Given the description of an element on the screen output the (x, y) to click on. 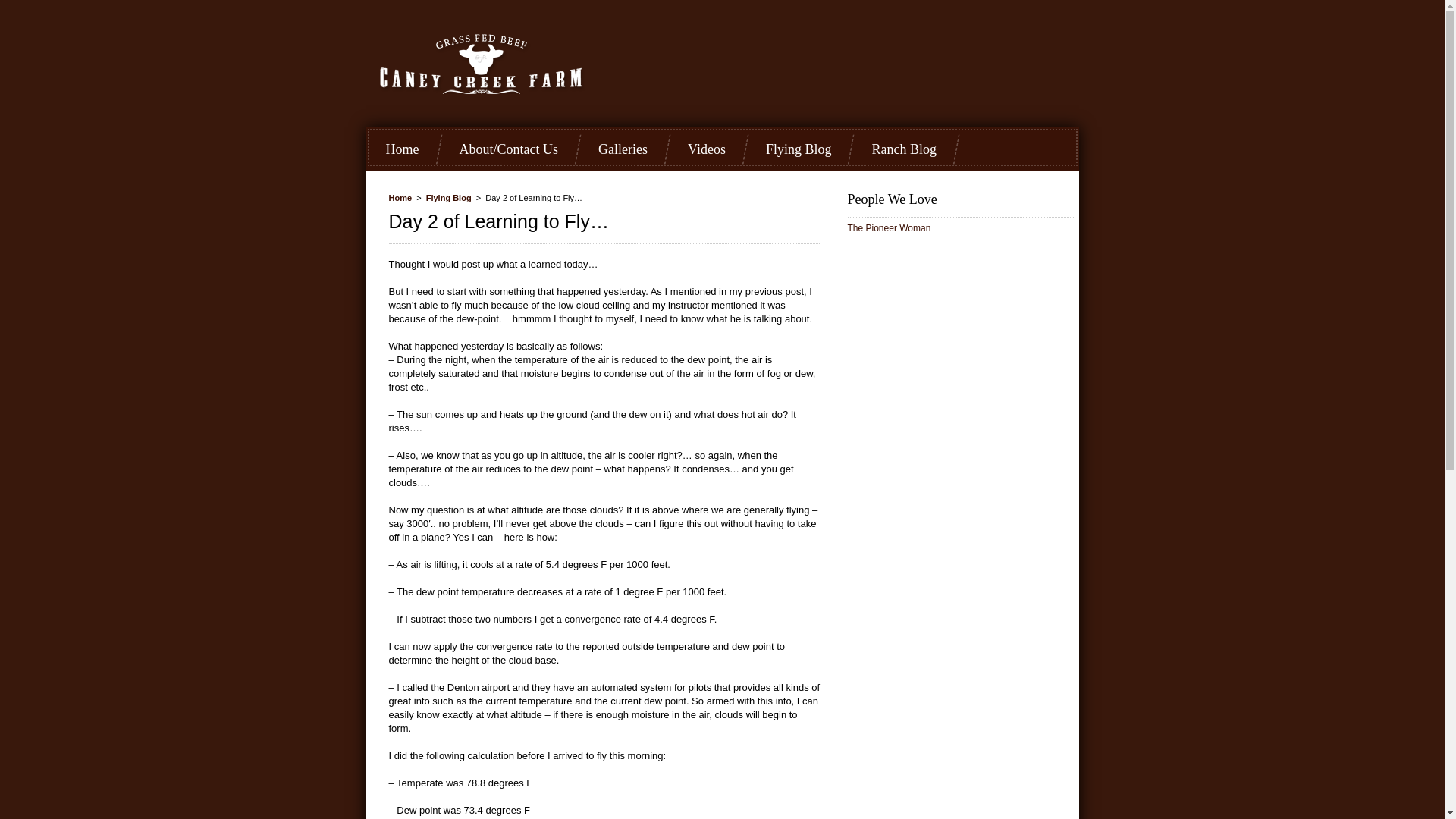
Grass Fed Beef for Friends (509, 63)
Home (400, 197)
Flying Blog (448, 197)
Galleries (622, 150)
Videos (706, 150)
Caney Creek Farm (509, 63)
